Given the description of an element on the screen output the (x, y) to click on. 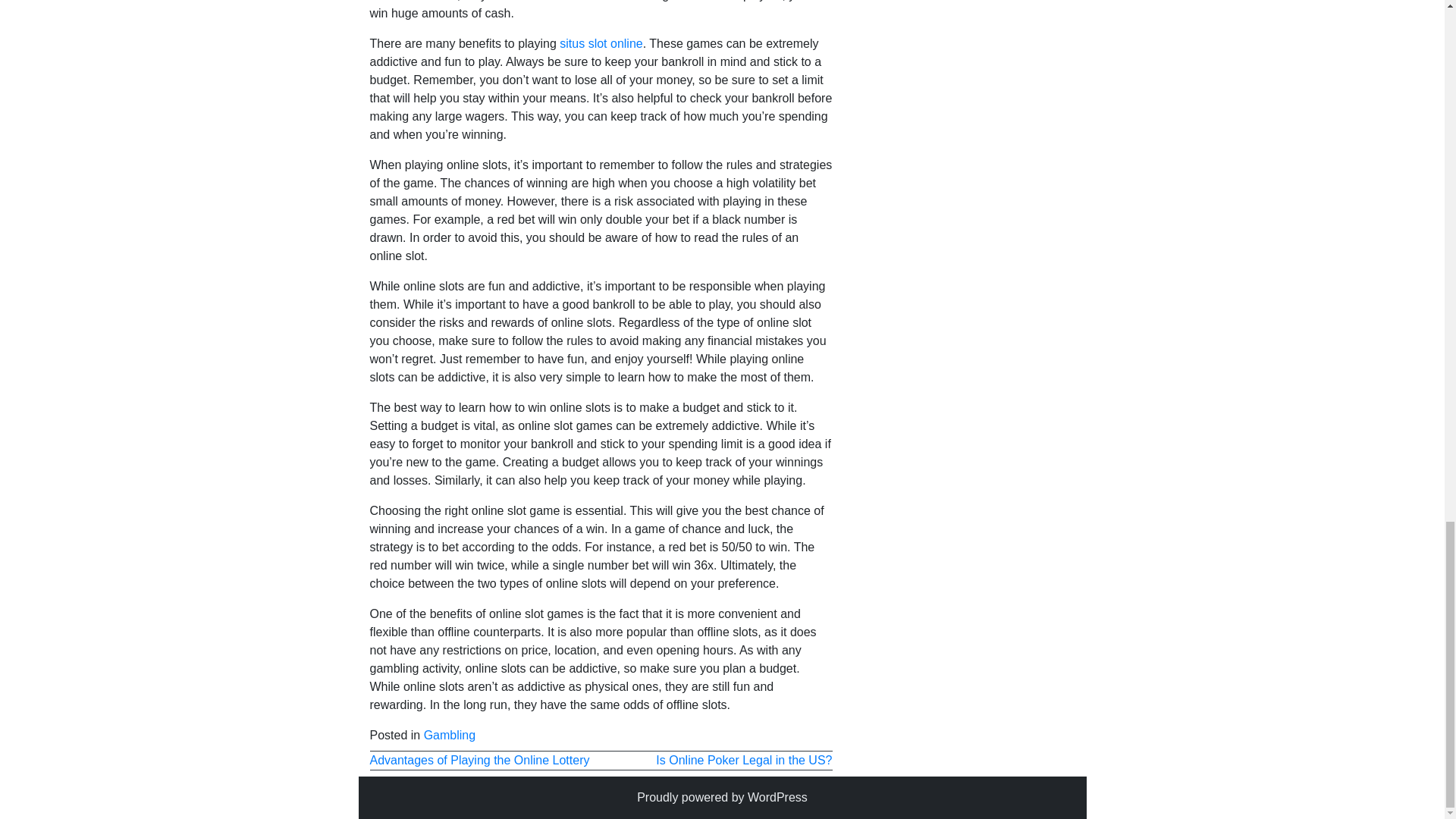
Gambling (449, 735)
situs slot online (600, 42)
